Given the description of an element on the screen output the (x, y) to click on. 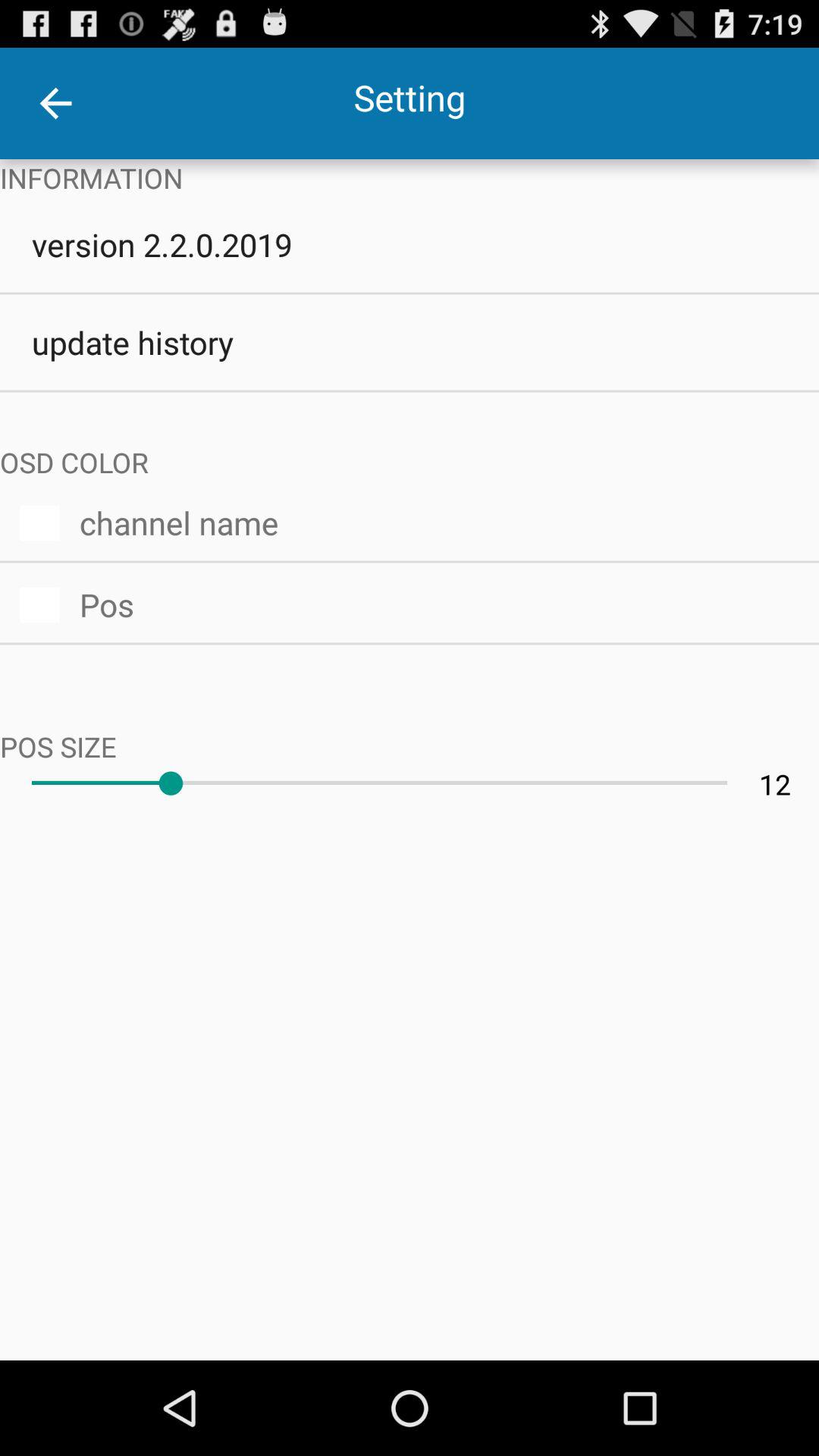
launch the item above the information item (55, 103)
